Given the description of an element on the screen output the (x, y) to click on. 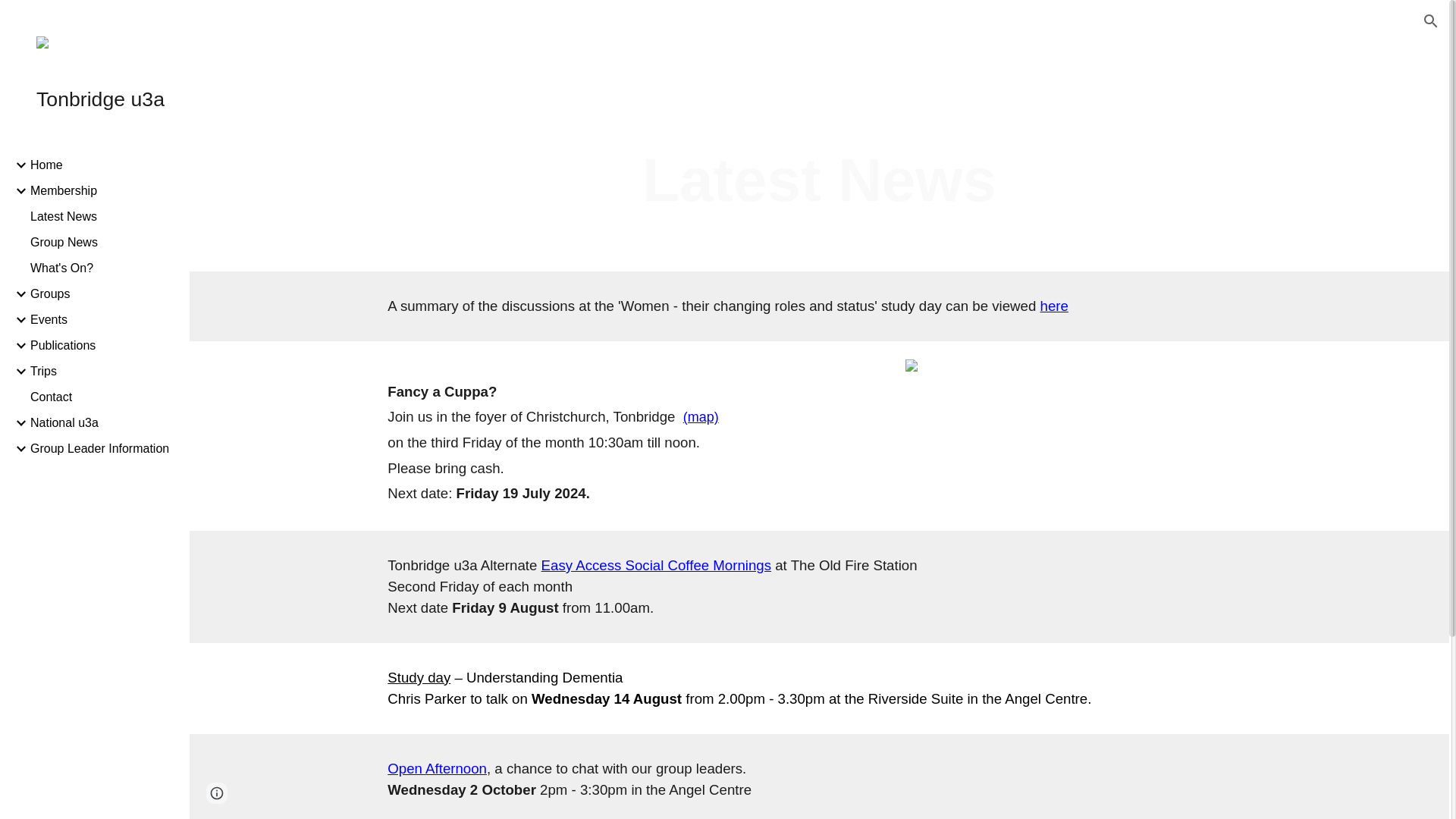
Groups (103, 294)
Group News (103, 242)
Home (103, 164)
Tonbridge u3a (100, 99)
What's On? (103, 268)
Latest News (103, 216)
Membership (103, 191)
